Given the description of an element on the screen output the (x, y) to click on. 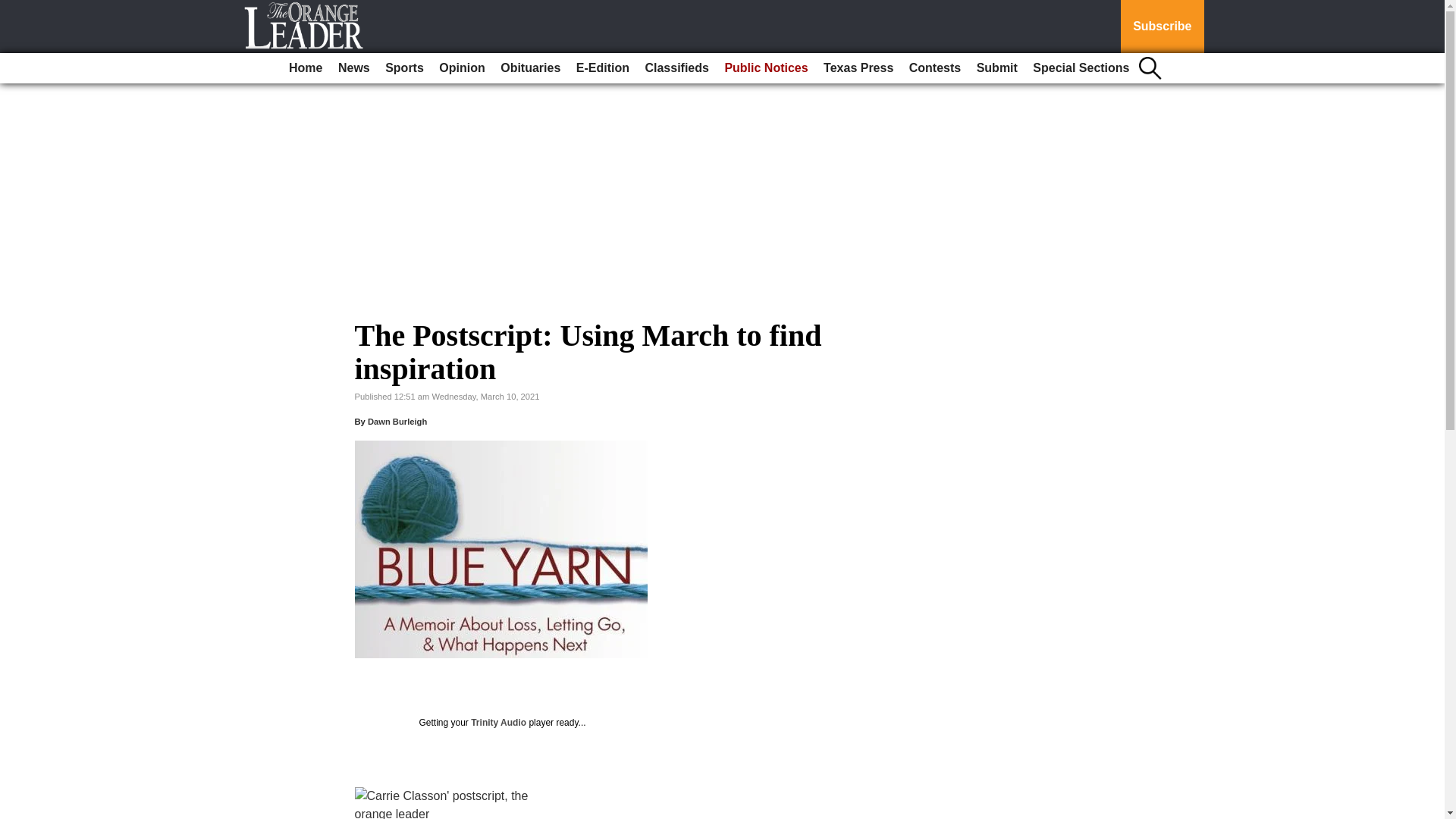
Opinion (461, 68)
News (353, 68)
Obituaries (530, 68)
E-Edition (602, 68)
Go (13, 9)
Subscribe (1162, 26)
Trinity Audio (497, 722)
Submit (997, 68)
Special Sections (1080, 68)
Sports (403, 68)
Dawn Burleigh (397, 420)
Home (305, 68)
Classifieds (676, 68)
Contests (934, 68)
Public Notices (765, 68)
